Given the description of an element on the screen output the (x, y) to click on. 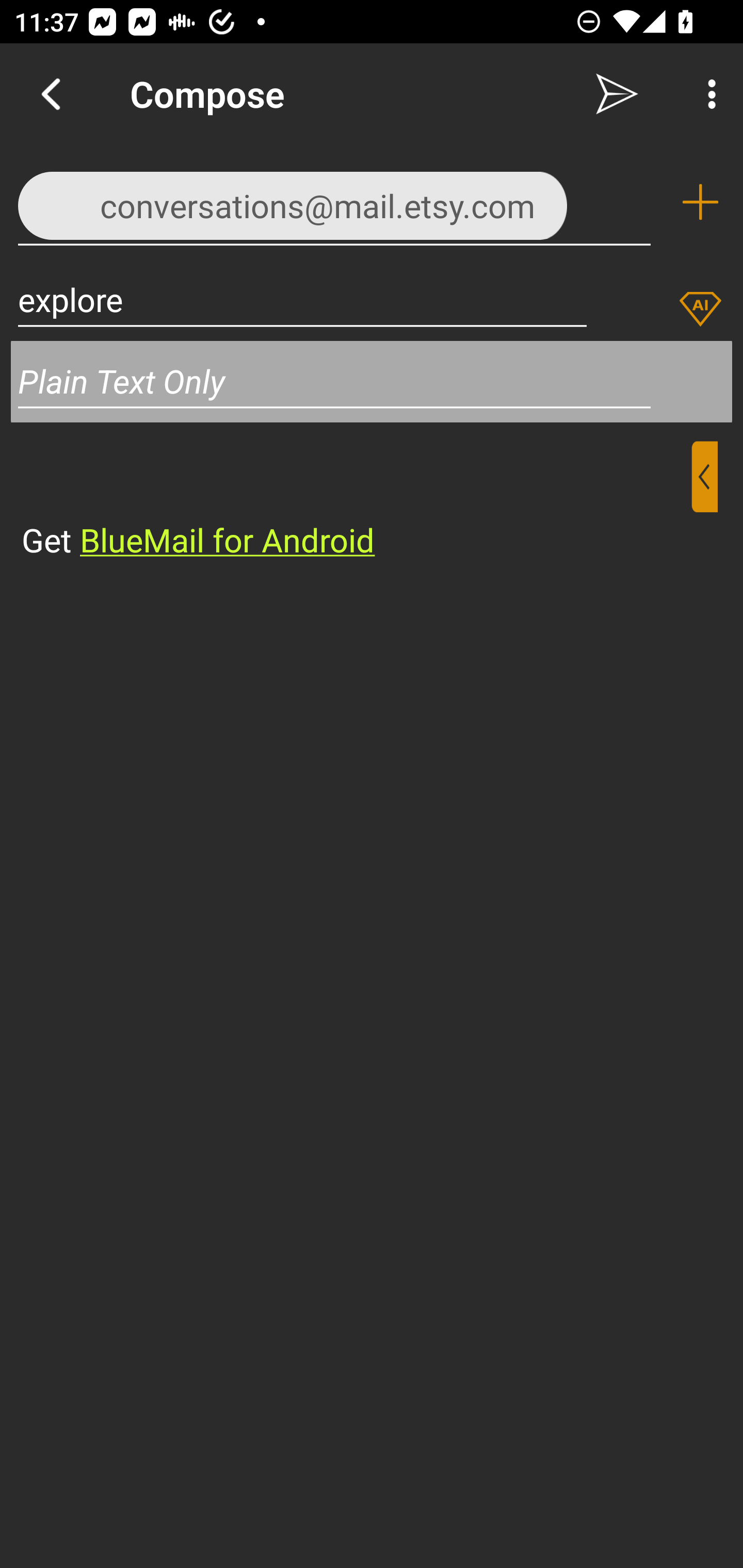
Navigate up (50, 93)
Send (616, 93)
More Options (706, 93)
<conversations@mail.etsy.com>,  (334, 201)
Add recipient (To) (699, 201)
explore (302, 299)
Plain Text Only (371, 380)


⁣Get BlueMail for Android ​ (355, 501)
